Given the description of an element on the screen output the (x, y) to click on. 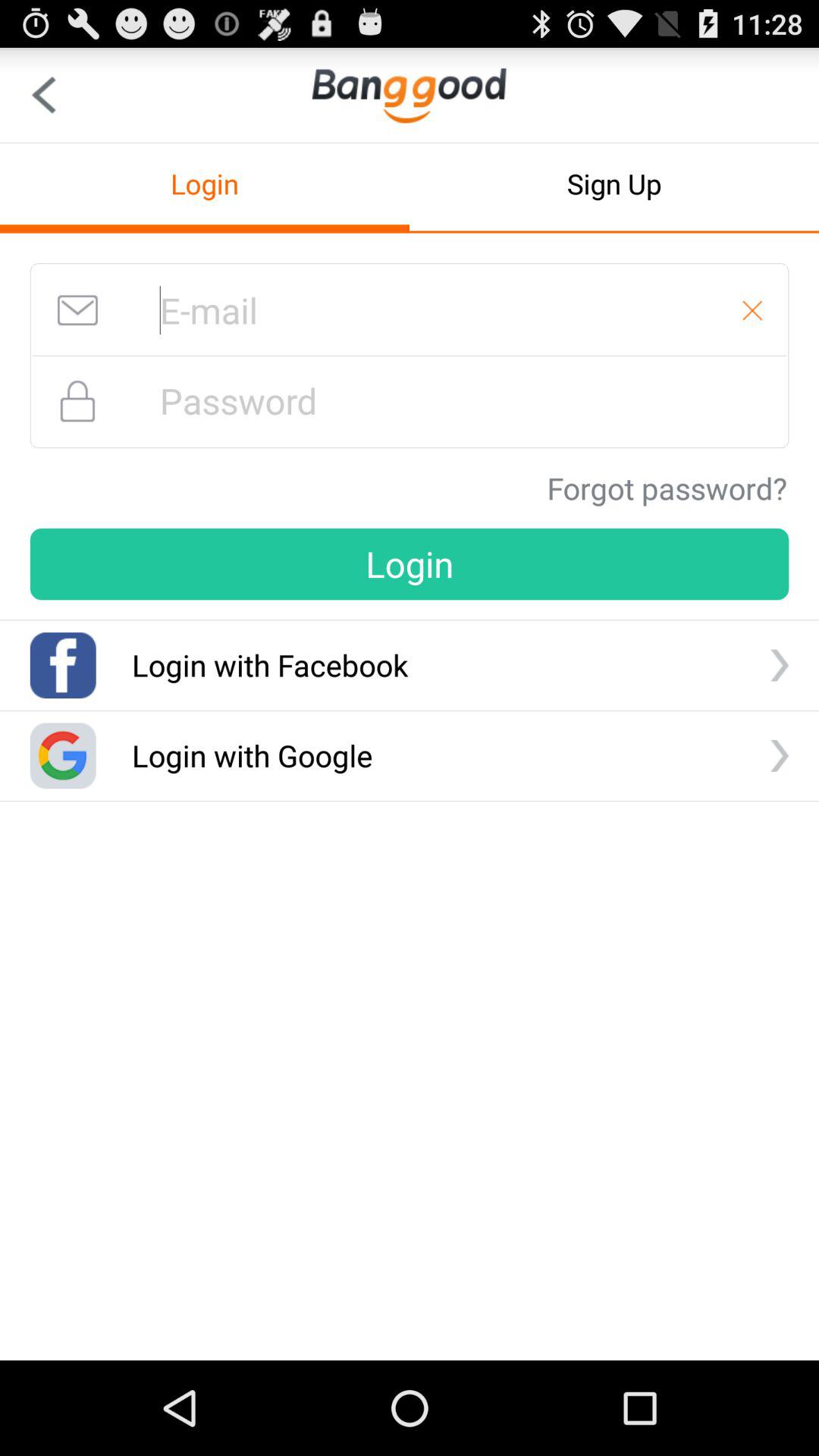
go back to previous page (43, 95)
